Given the description of an element on the screen output the (x, y) to click on. 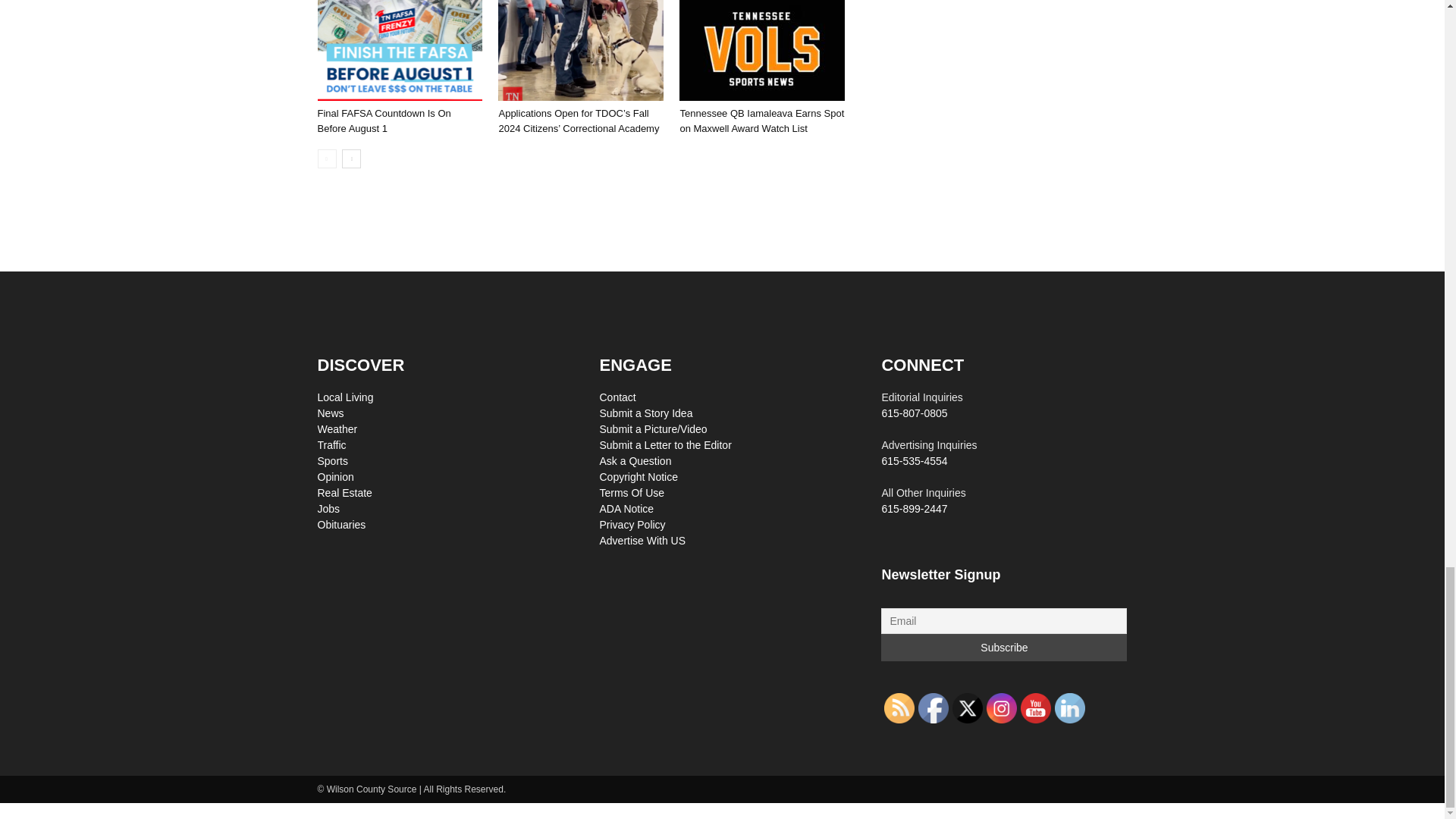
Subscribe (1003, 646)
